Given the description of an element on the screen output the (x, y) to click on. 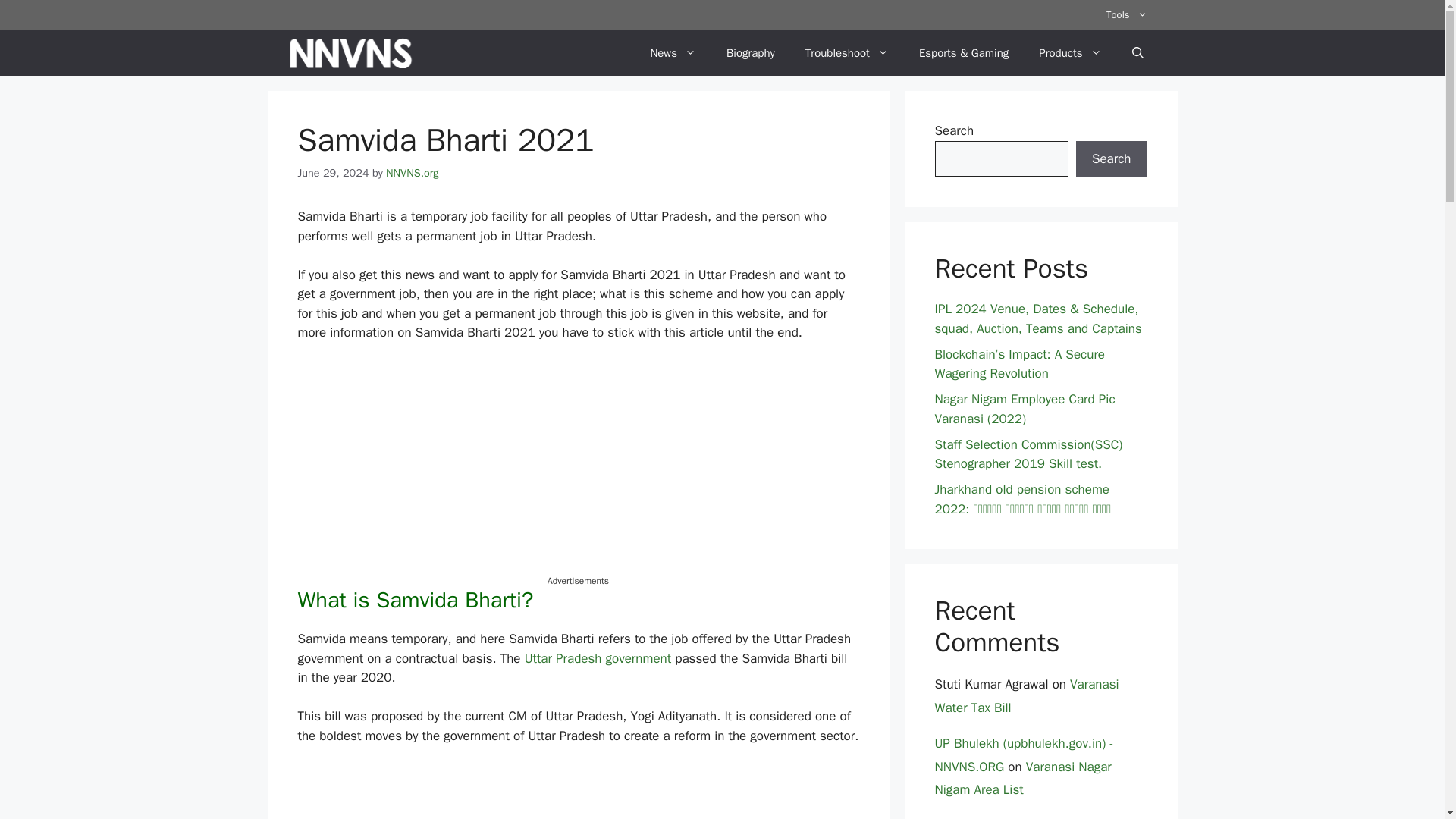
NNVNS.org (412, 172)
Tools (1125, 15)
Advertisement (578, 791)
Troubleshoot (847, 53)
Uttar Pradesh government (597, 658)
Advertisement (578, 467)
Products (1069, 53)
View all posts by NNVNS.org (412, 172)
News (672, 53)
NNVNS.ORG (349, 53)
Biography (750, 53)
